Given the description of an element on the screen output the (x, y) to click on. 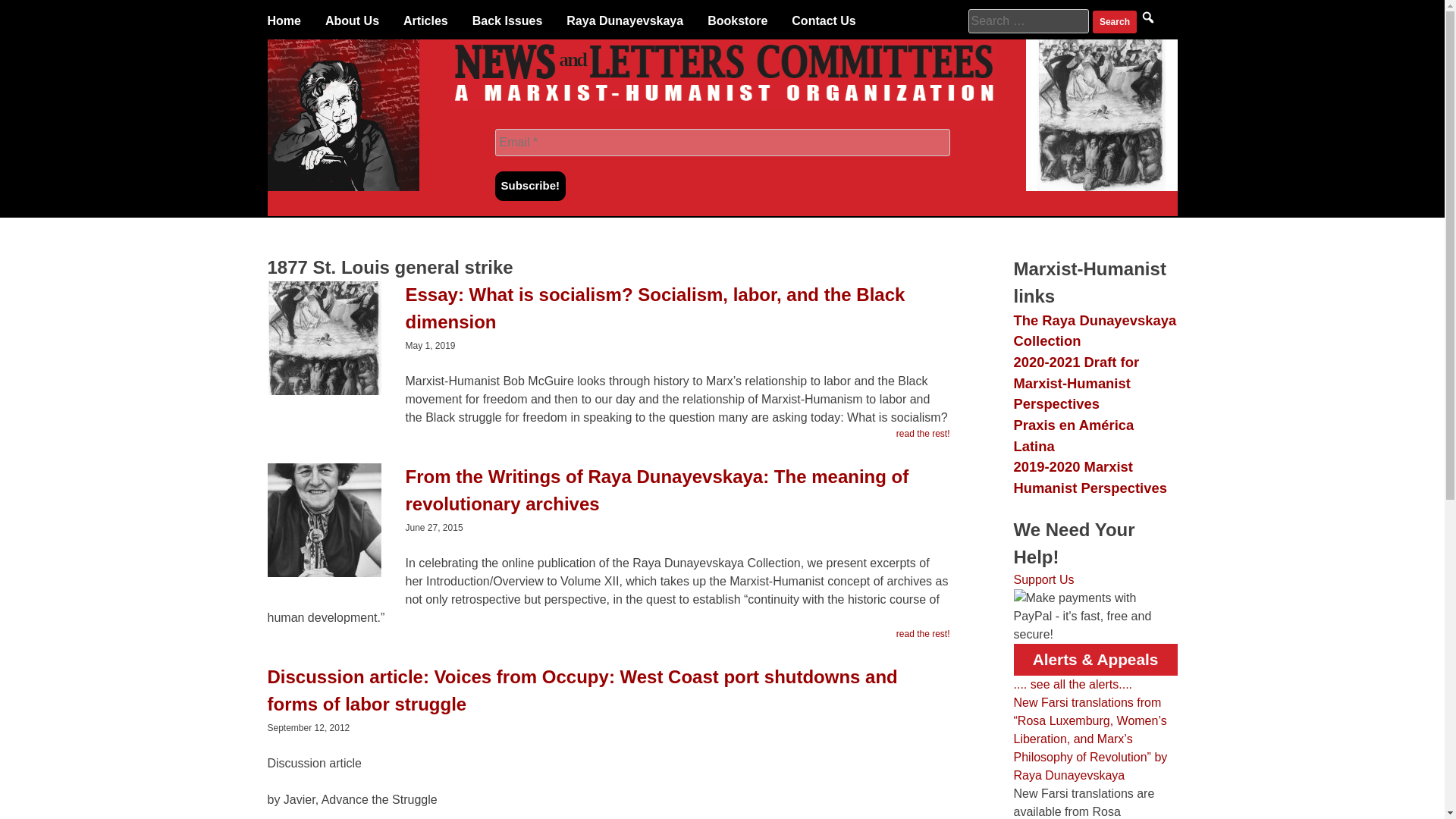
The Raya Dunayevskaya Collection (1094, 330)
About Us (351, 21)
Search (1115, 21)
Raya Dunayevskaya (624, 21)
Home (282, 21)
Subscribe! (530, 185)
Support Us (1043, 579)
.... see all the alerts.... (1072, 684)
Bookstore (737, 21)
2019-2020 Marxist Humanist Perspectives (1089, 477)
2020-2021 Draft for Marxist-Humanist Perspectives (1075, 382)
Subscribe! (530, 185)
Back Issues (507, 21)
Articles (425, 21)
